Given the description of an element on the screen output the (x, y) to click on. 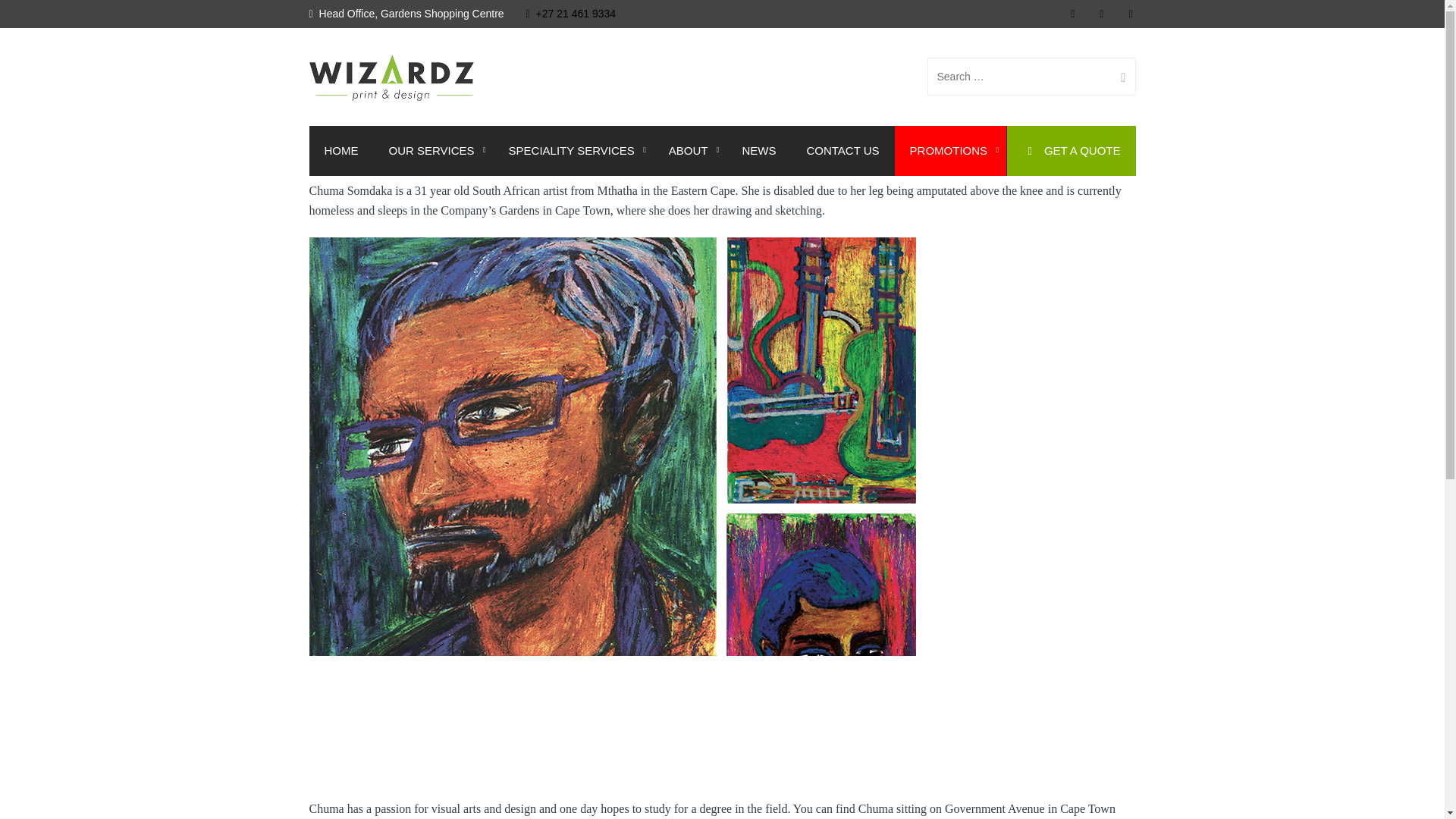
Search (1117, 76)
Search (1117, 76)
HOME (341, 151)
Search (1117, 76)
